Given the description of an element on the screen output the (x, y) to click on. 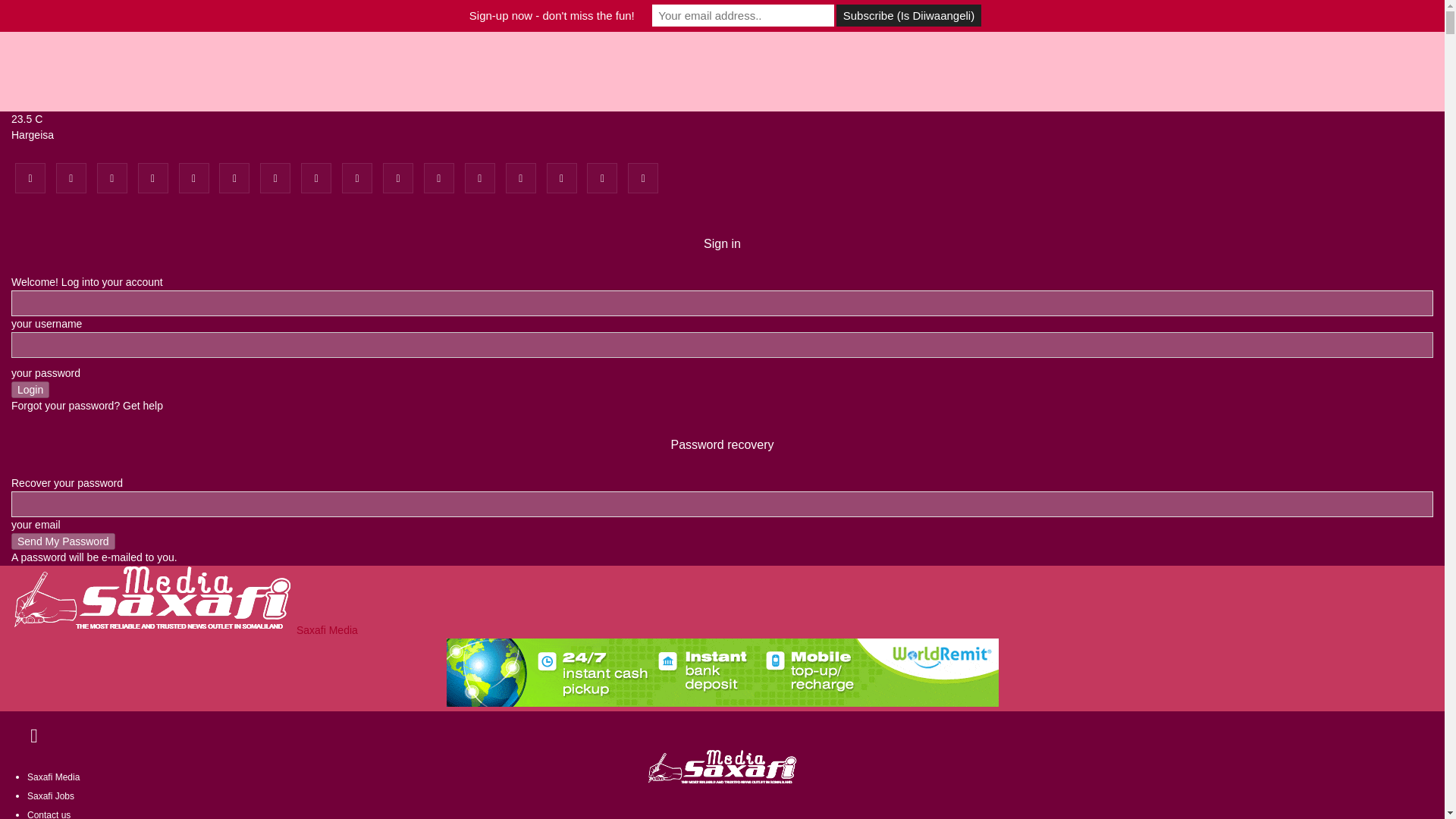
Send My Password (63, 541)
Login (30, 389)
Saxafi Media (184, 630)
Forgot your password? Get help (87, 405)
